Given the description of an element on the screen output the (x, y) to click on. 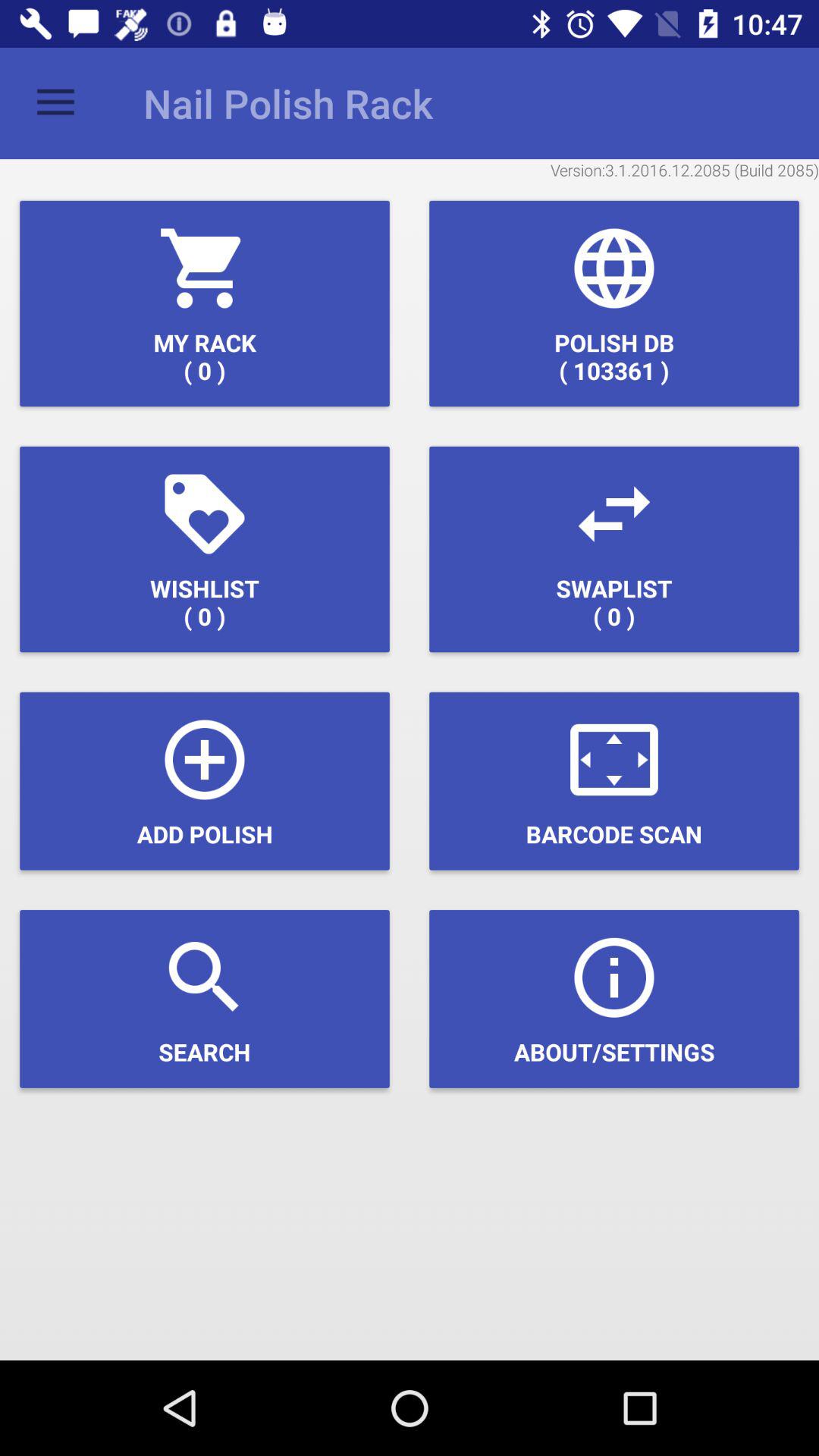
choose icon next to the polish db
( 103361 ) item (204, 303)
